Given the description of an element on the screen output the (x, y) to click on. 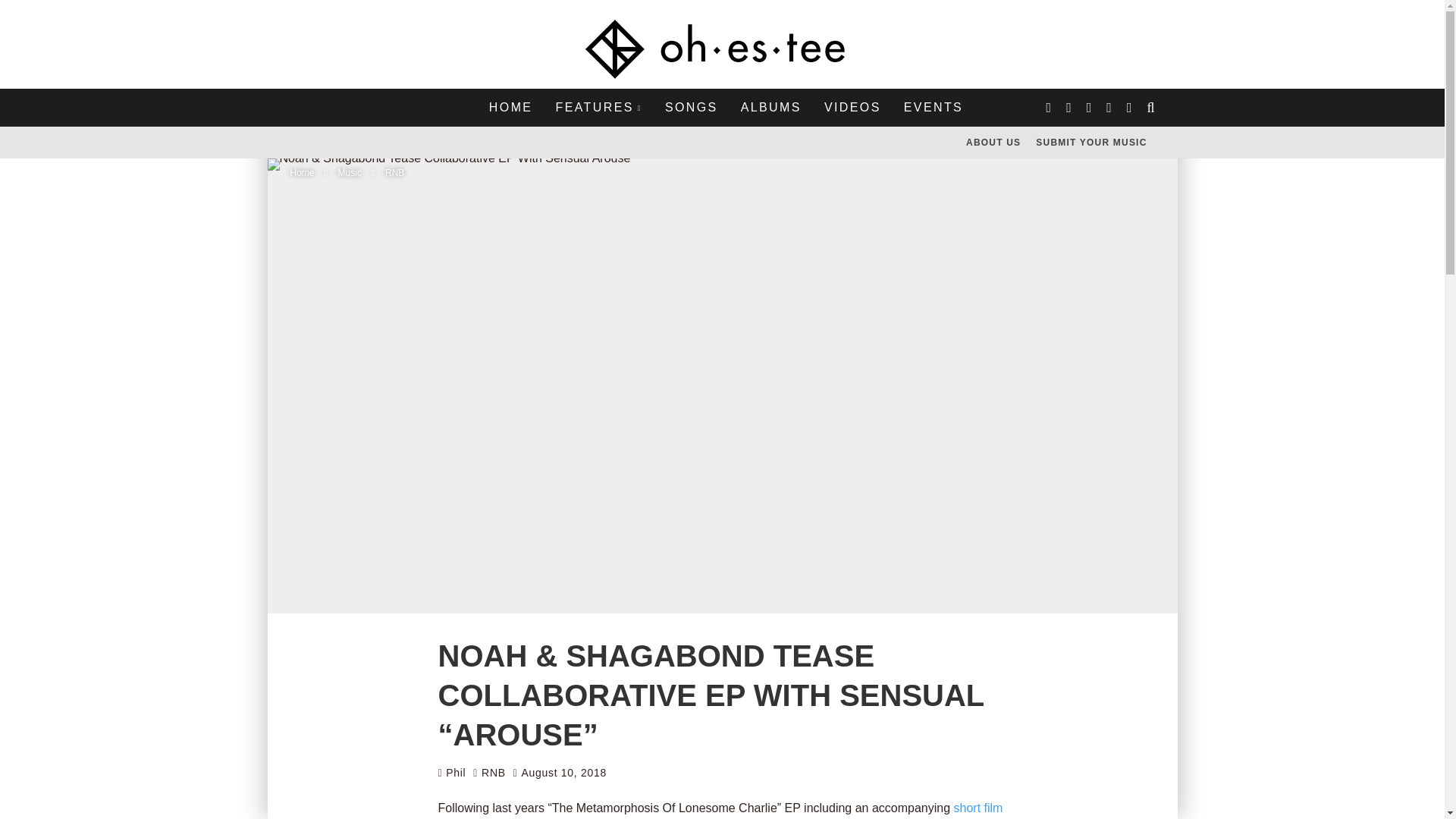
SONGS (691, 107)
FEATURES (597, 107)
HOME (510, 107)
